Given the description of an element on the screen output the (x, y) to click on. 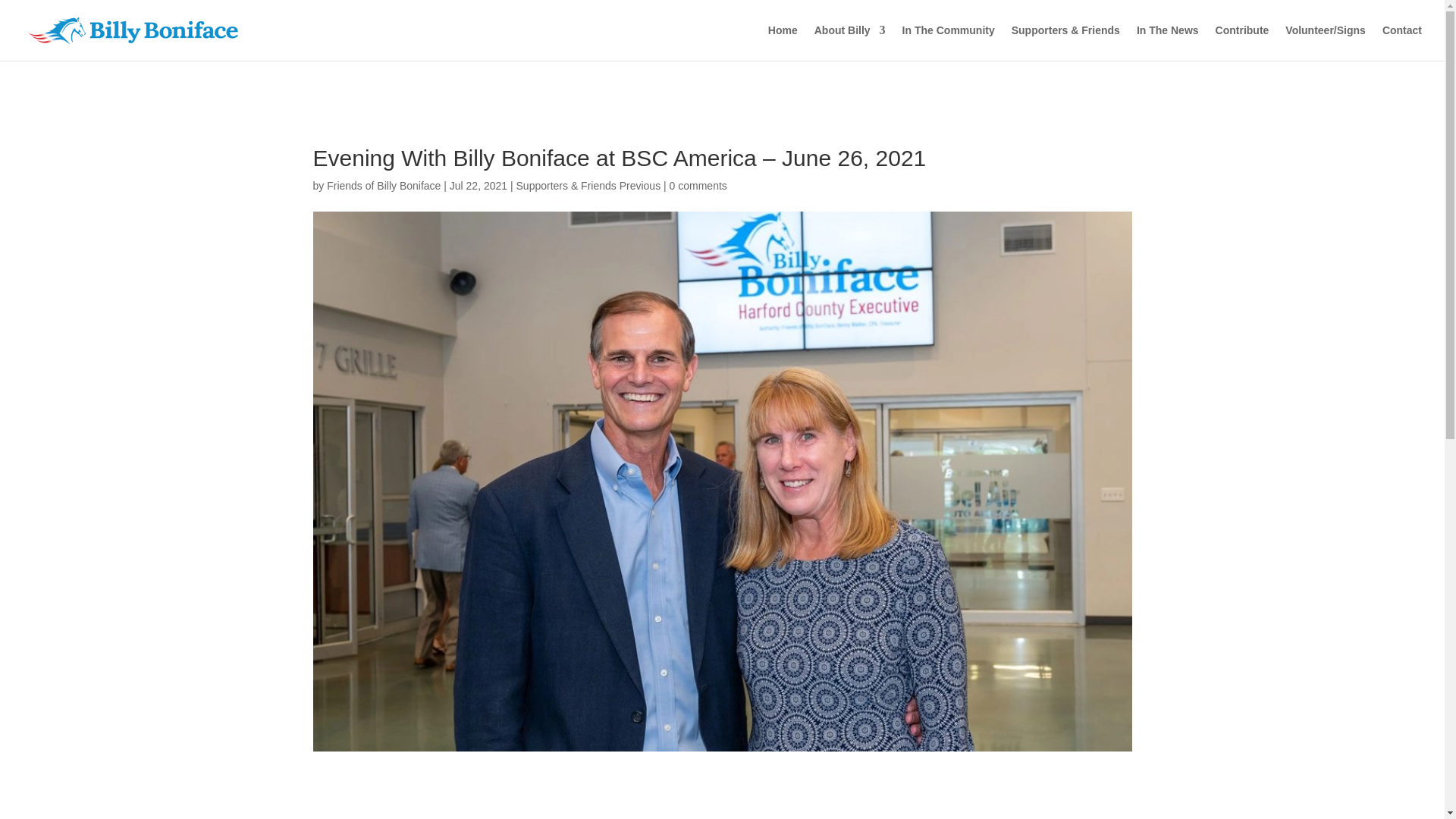
Home (782, 42)
0 comments (697, 185)
In The News (1167, 42)
In The Community (948, 42)
Friends of Billy Boniface (383, 185)
Posts by Friends of Billy Boniface (383, 185)
Contact (1401, 42)
About Billy (849, 42)
Contribute (1242, 42)
